Given the description of an element on the screen output the (x, y) to click on. 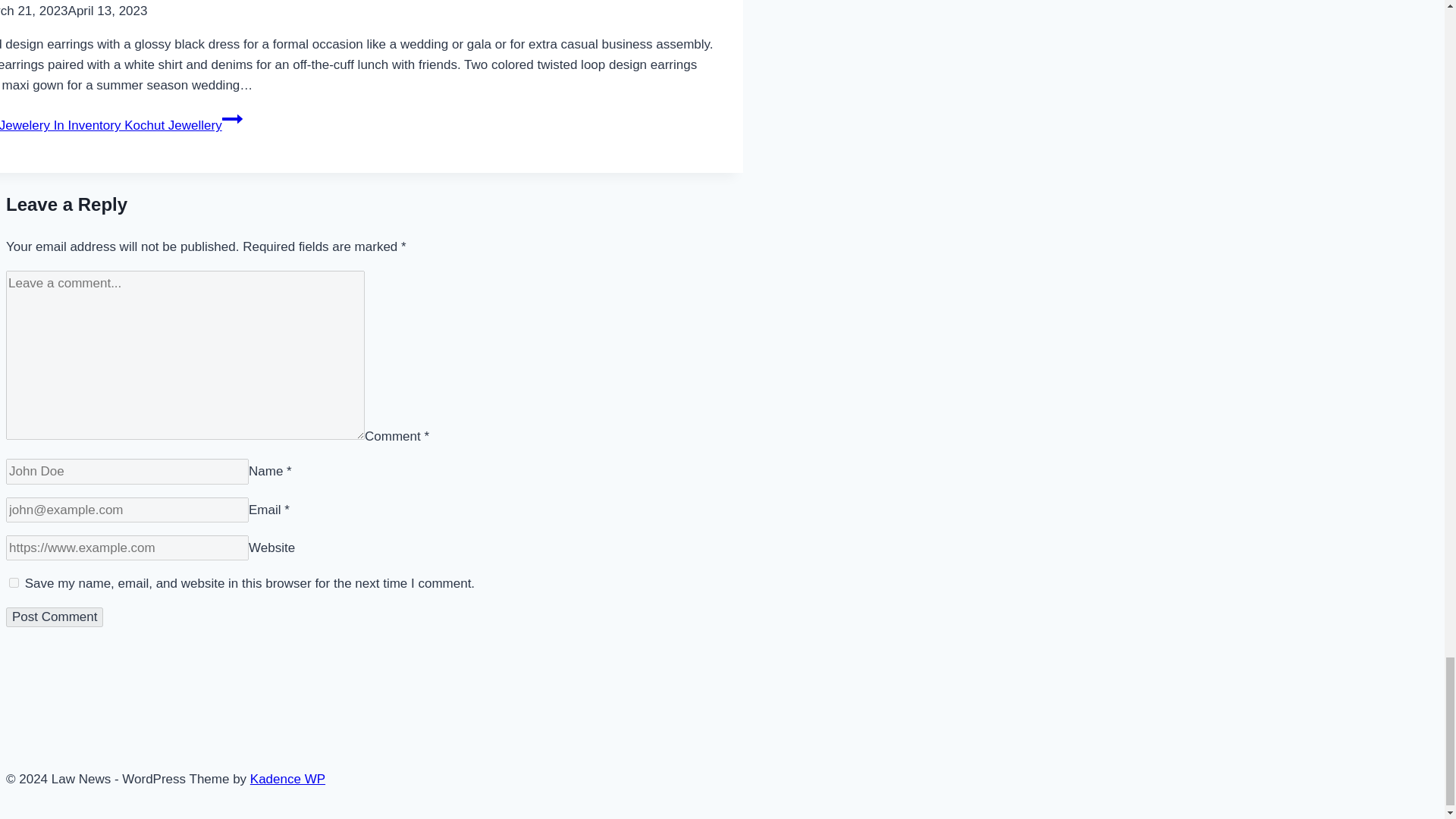
Read More Jewelery In Inventory Kochut JewelleryContinue (121, 124)
Post Comment (54, 617)
Post Comment (54, 617)
yes (13, 583)
Continue (232, 118)
Kadence WP (287, 779)
